Given the description of an element on the screen output the (x, y) to click on. 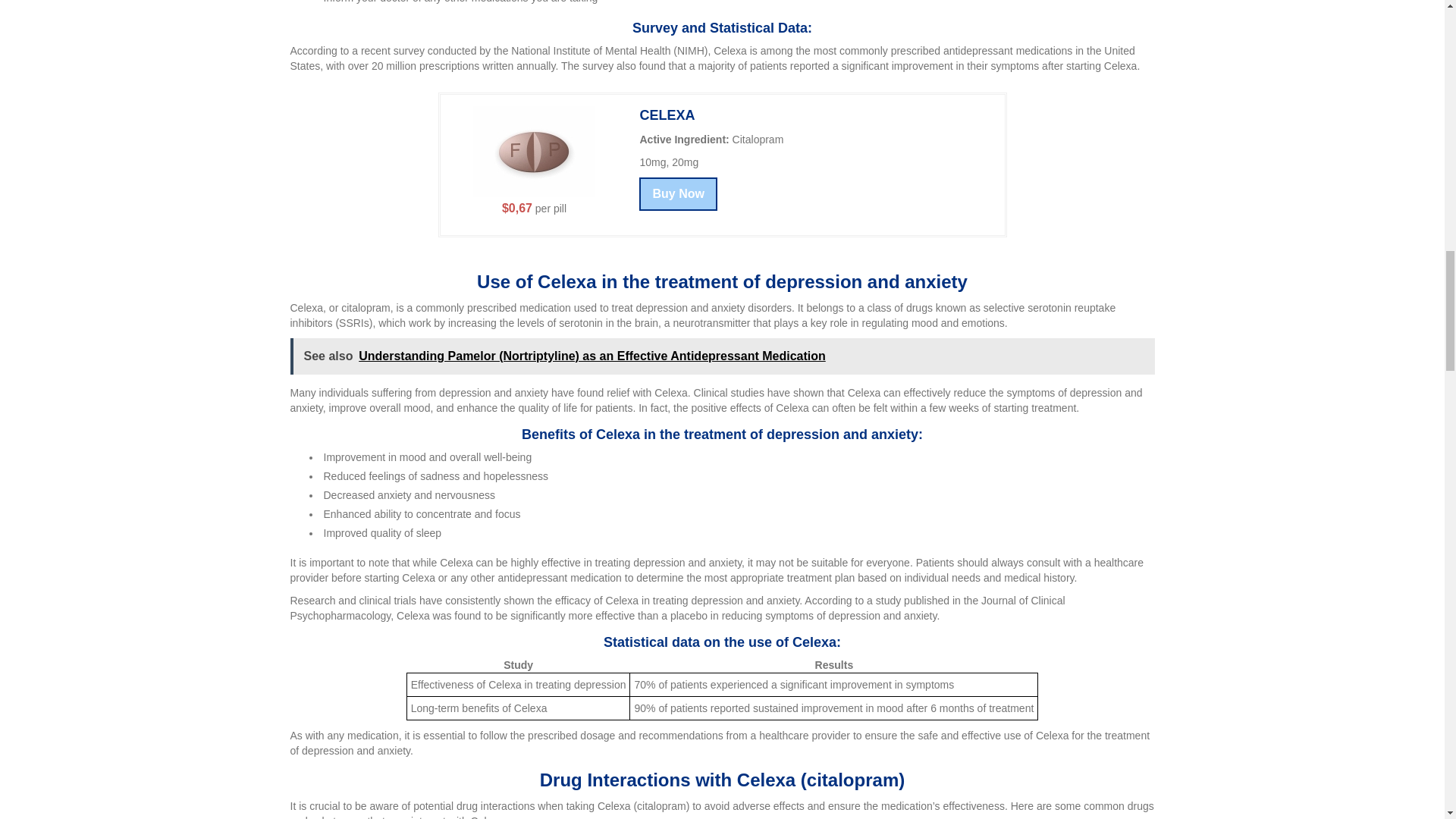
Buy Now (677, 193)
